Given the description of an element on the screen output the (x, y) to click on. 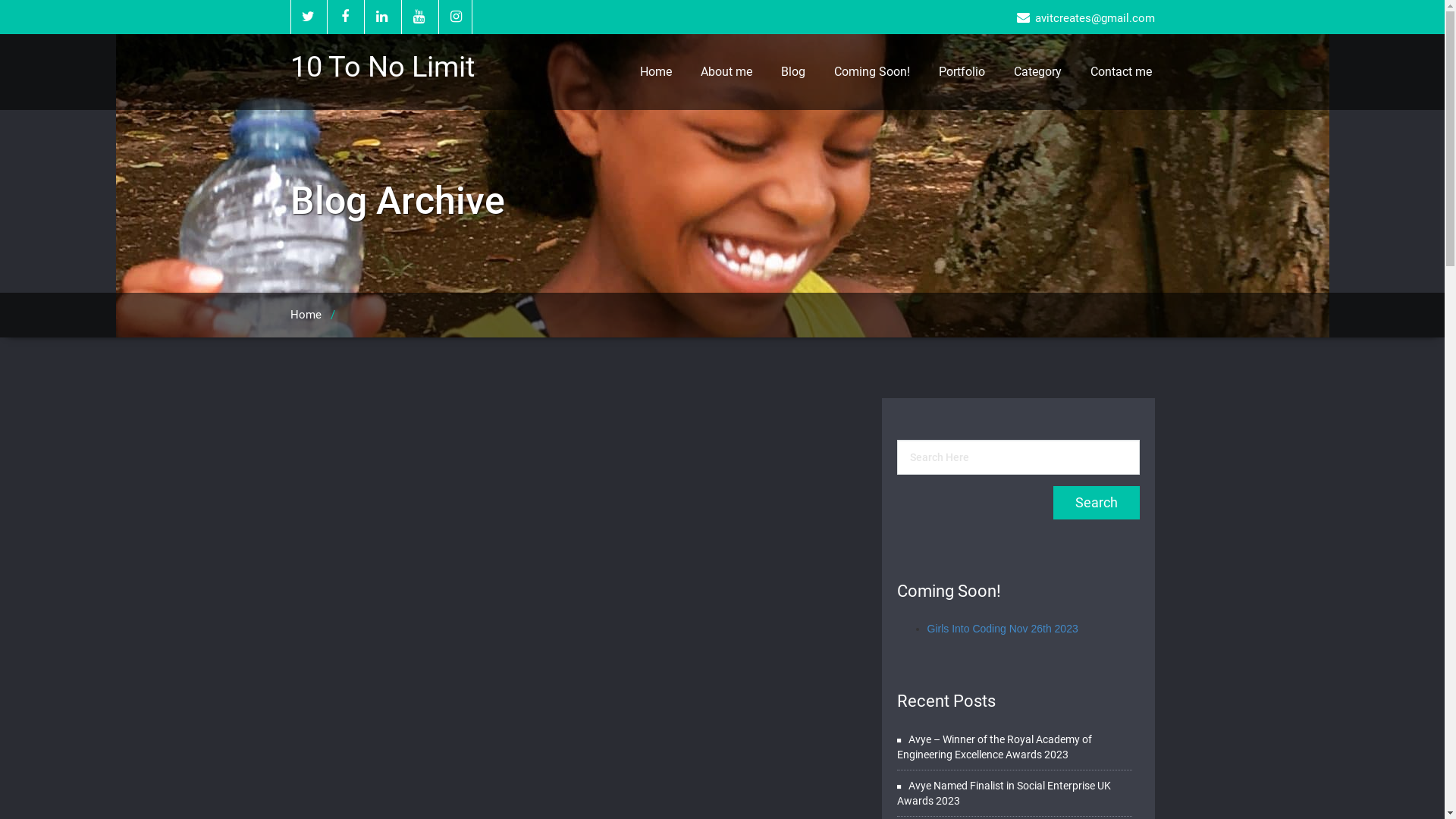
Category Element type: text (1037, 71)
Avye Named Finalist in Social Enterprise UK Awards 2023 Element type: text (1003, 792)
Contact me Element type: text (1120, 71)
Blog Element type: text (792, 71)
10 To No Limit Element type: text (387, 66)
Girls Into Coding Nov 26th 2023 Element type: text (1001, 628)
Coming Soon! Element type: text (871, 71)
Home Element type: text (304, 314)
Search Element type: text (1095, 502)
About me Element type: text (725, 71)
Portfolio Element type: text (960, 71)
Home Element type: text (654, 71)
